Given the description of an element on the screen output the (x, y) to click on. 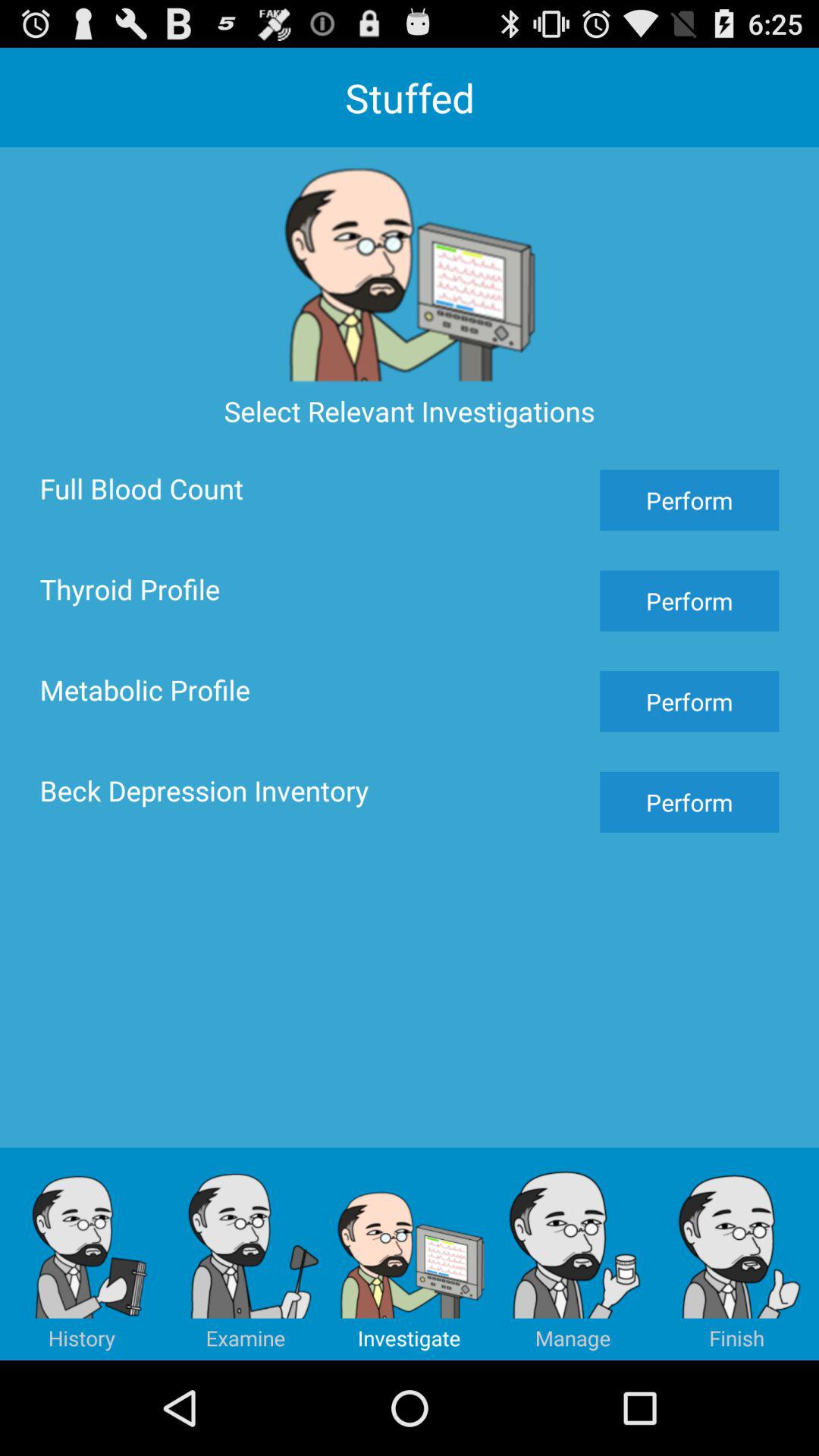
click the button below perform button (737, 1253)
